Given the description of an element on the screen output the (x, y) to click on. 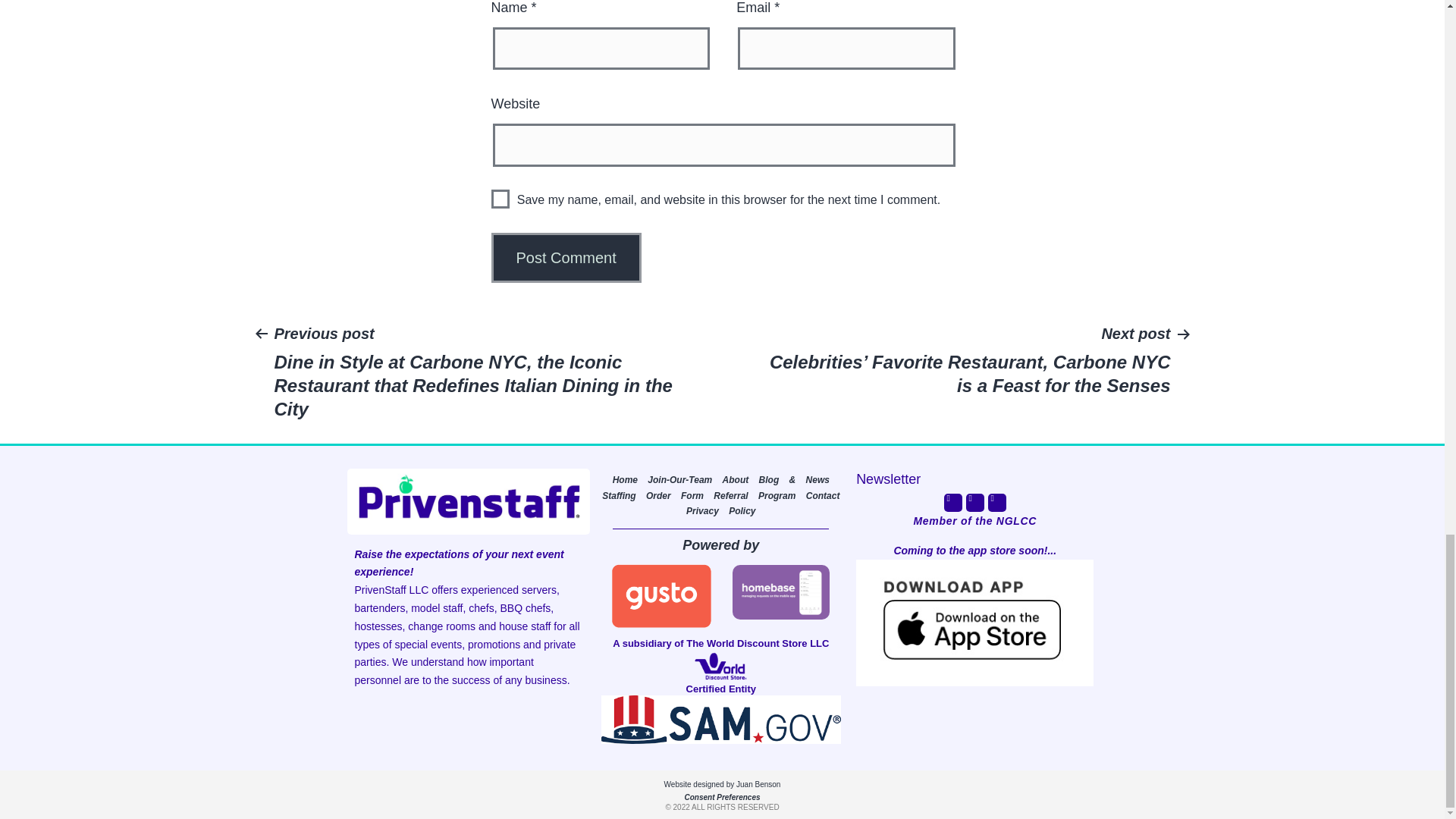
Referral Program (753, 495)
Privenstaff Event Staffing  JBECLogoNew1 (721, 666)
Privacy Policy (720, 511)
Post Comment (567, 257)
Join-Our-Team (679, 480)
Contact (823, 495)
Staffing Order Form (652, 495)
About (735, 480)
Home (624, 480)
Post Comment (567, 257)
yes (500, 198)
